Given the description of an element on the screen output the (x, y) to click on. 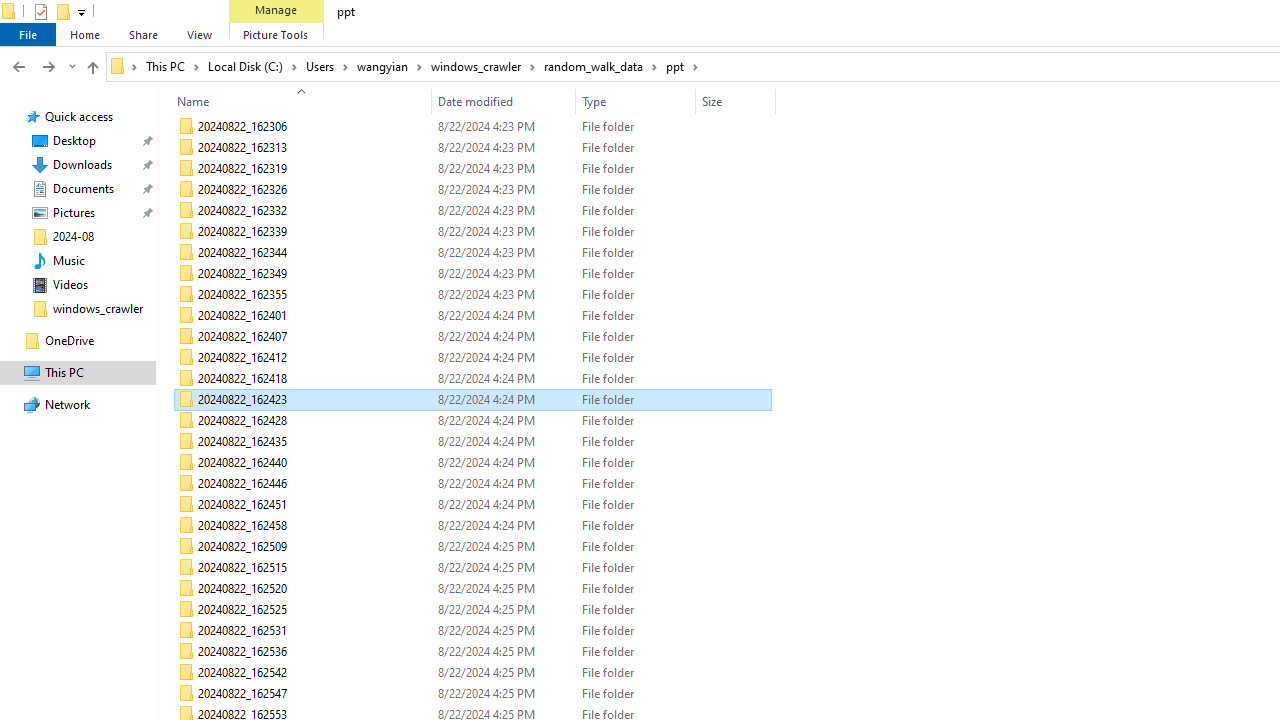
20240822_162313 (472, 147)
20240822_162339 (472, 232)
Date modified (504, 101)
Type (636, 693)
20240822_162412 (472, 357)
Size (735, 101)
This PC (172, 65)
20240822_162542 (472, 672)
Back to random_walk_data (Alt + Left Arrow) (18, 66)
20240822_162520 (472, 588)
Up band toolbar (92, 70)
Forward to 20240822_162423 (Alt + Right Arrow) (49, 66)
